Given the description of an element on the screen output the (x, y) to click on. 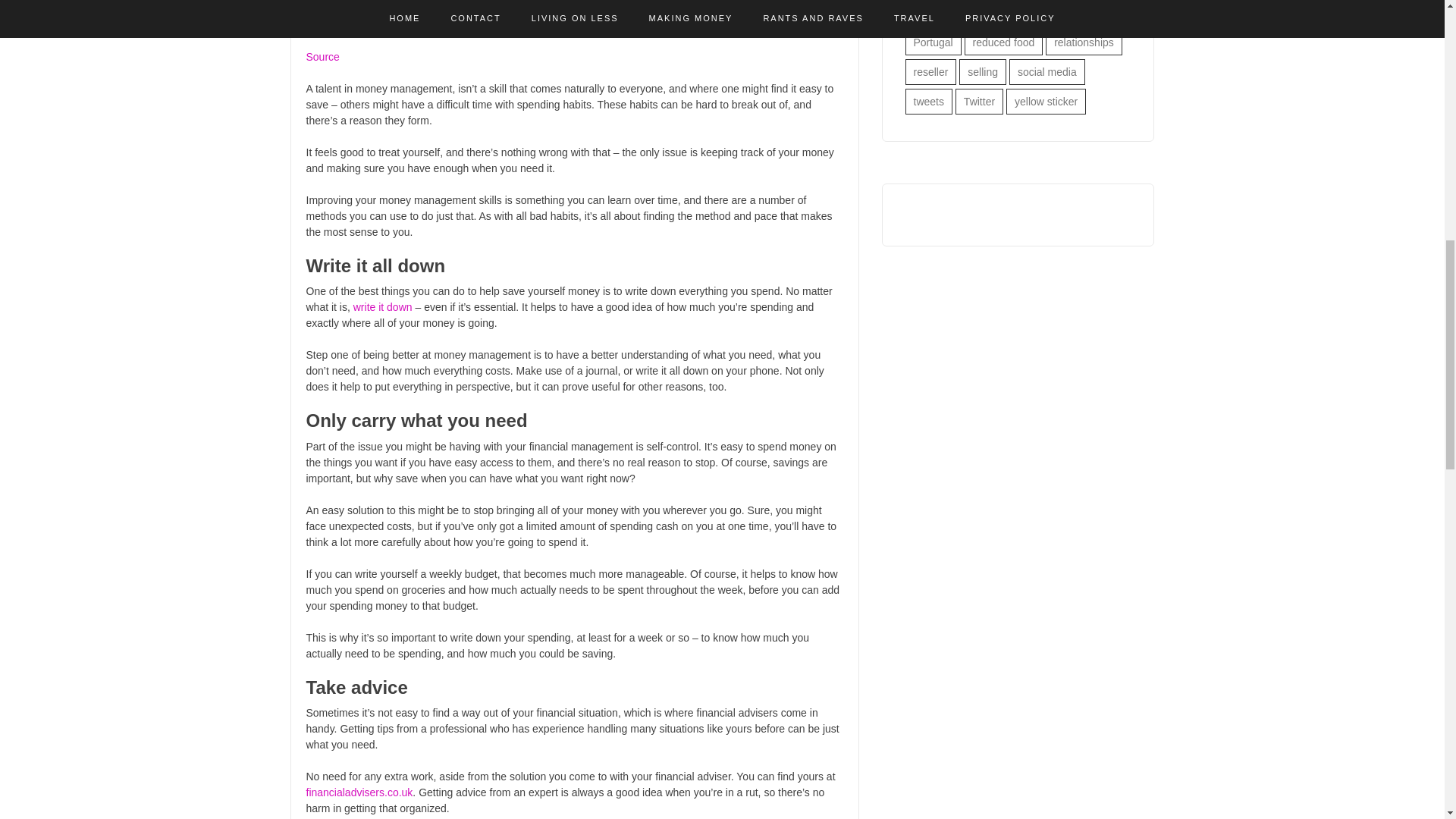
Source (322, 56)
write it down (382, 306)
financialadvisers.co.uk (359, 792)
